Given the description of an element on the screen output the (x, y) to click on. 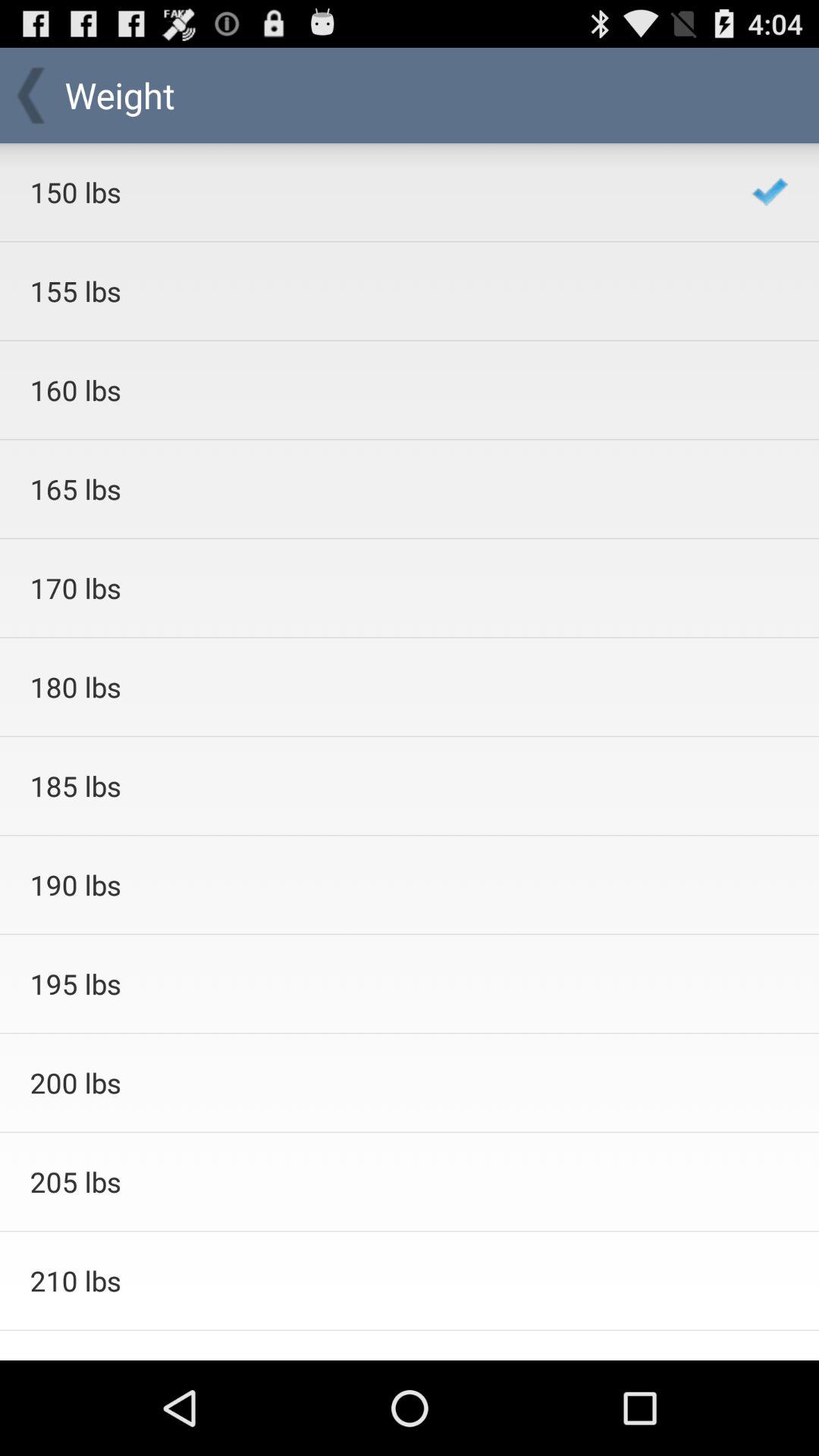
swipe to 150 lbs icon (371, 192)
